Given the description of an element on the screen output the (x, y) to click on. 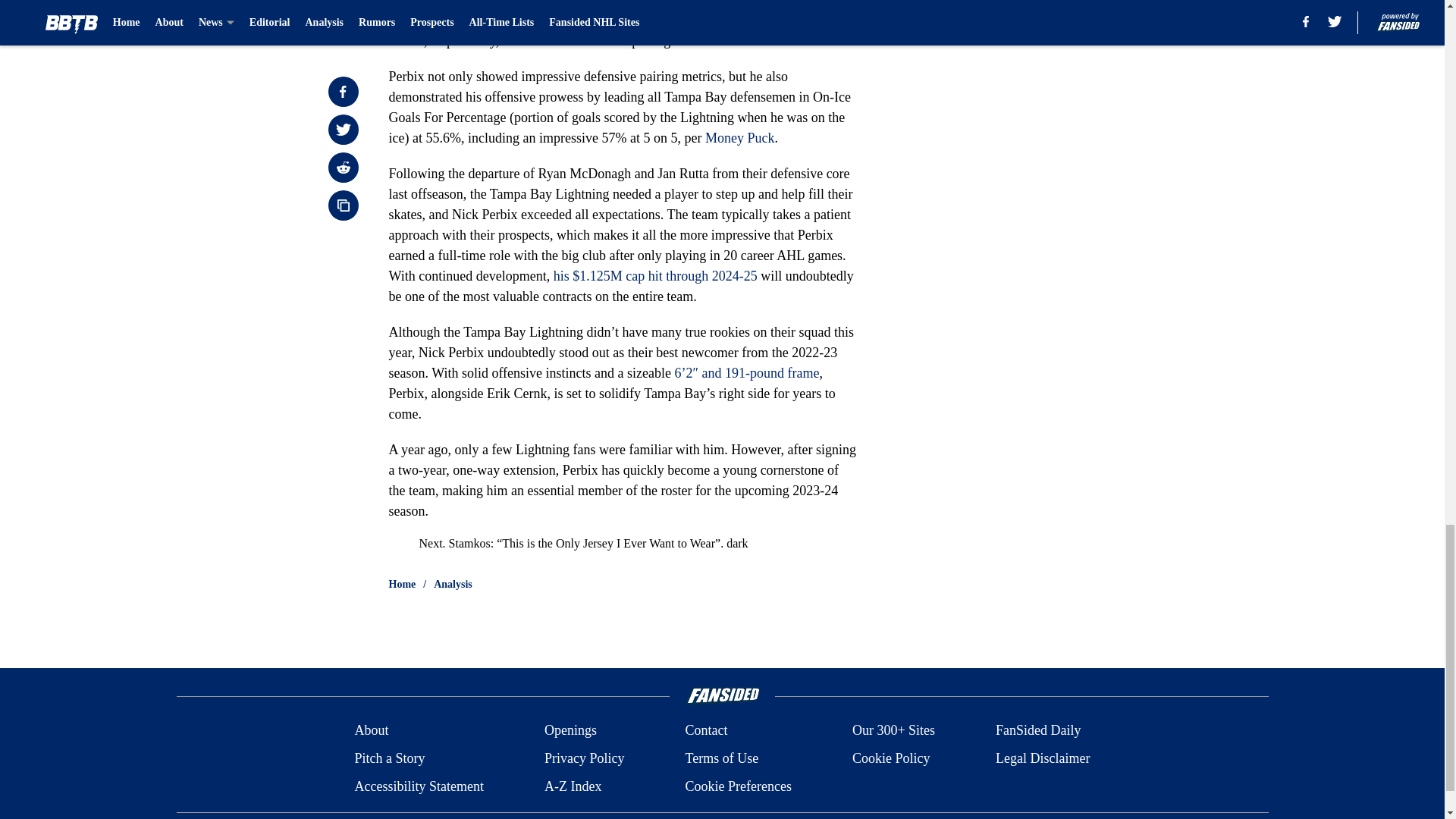
Home (401, 584)
Money Puck (739, 137)
Analysis (452, 584)
About (370, 730)
Pitch a Story (389, 758)
Openings (570, 730)
FanSided Daily (1038, 730)
Privacy Policy (584, 758)
Terms of Use (721, 758)
Contact (705, 730)
